Given the description of an element on the screen output the (x, y) to click on. 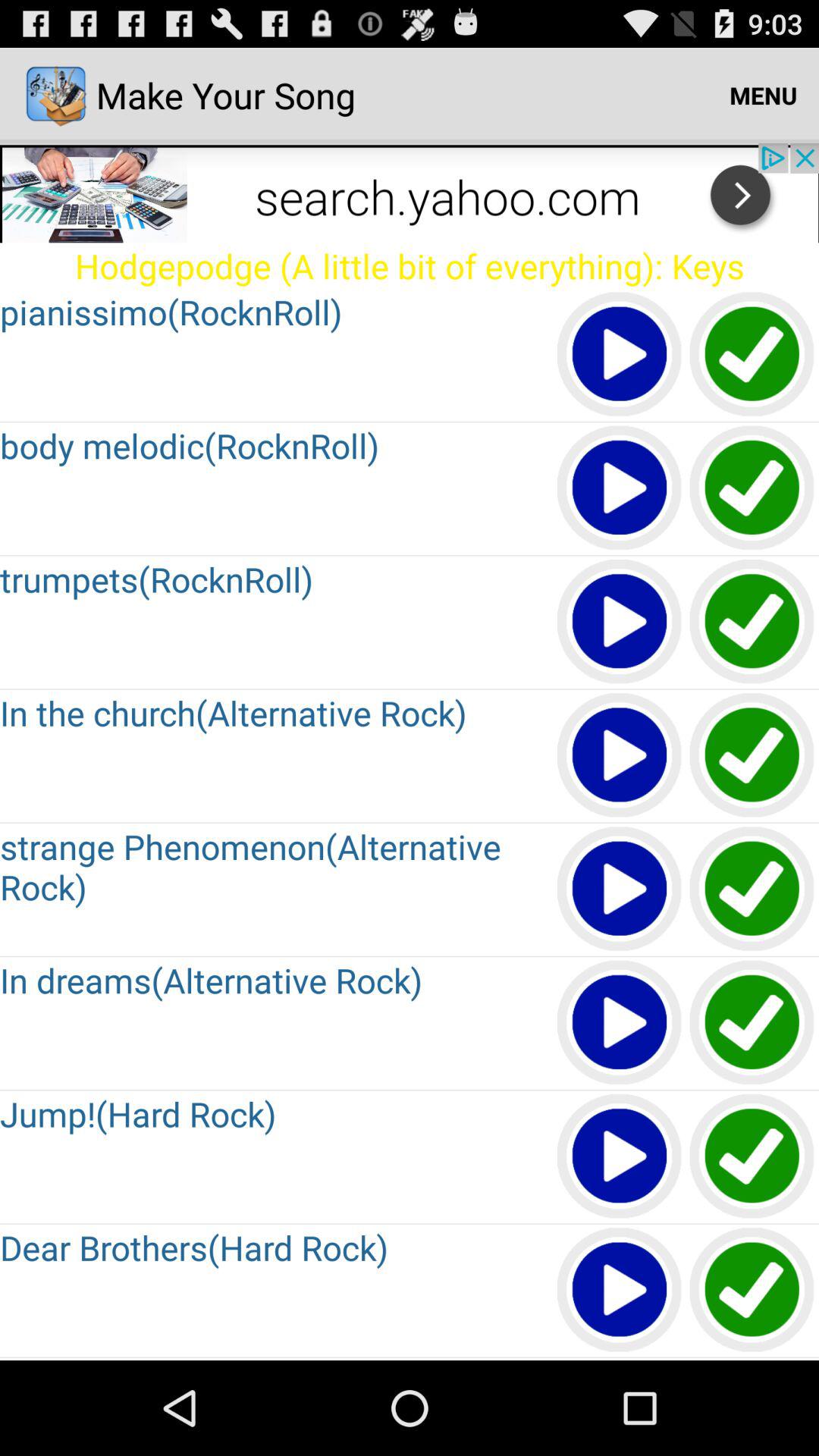
play this (619, 889)
